Given the description of an element on the screen output the (x, y) to click on. 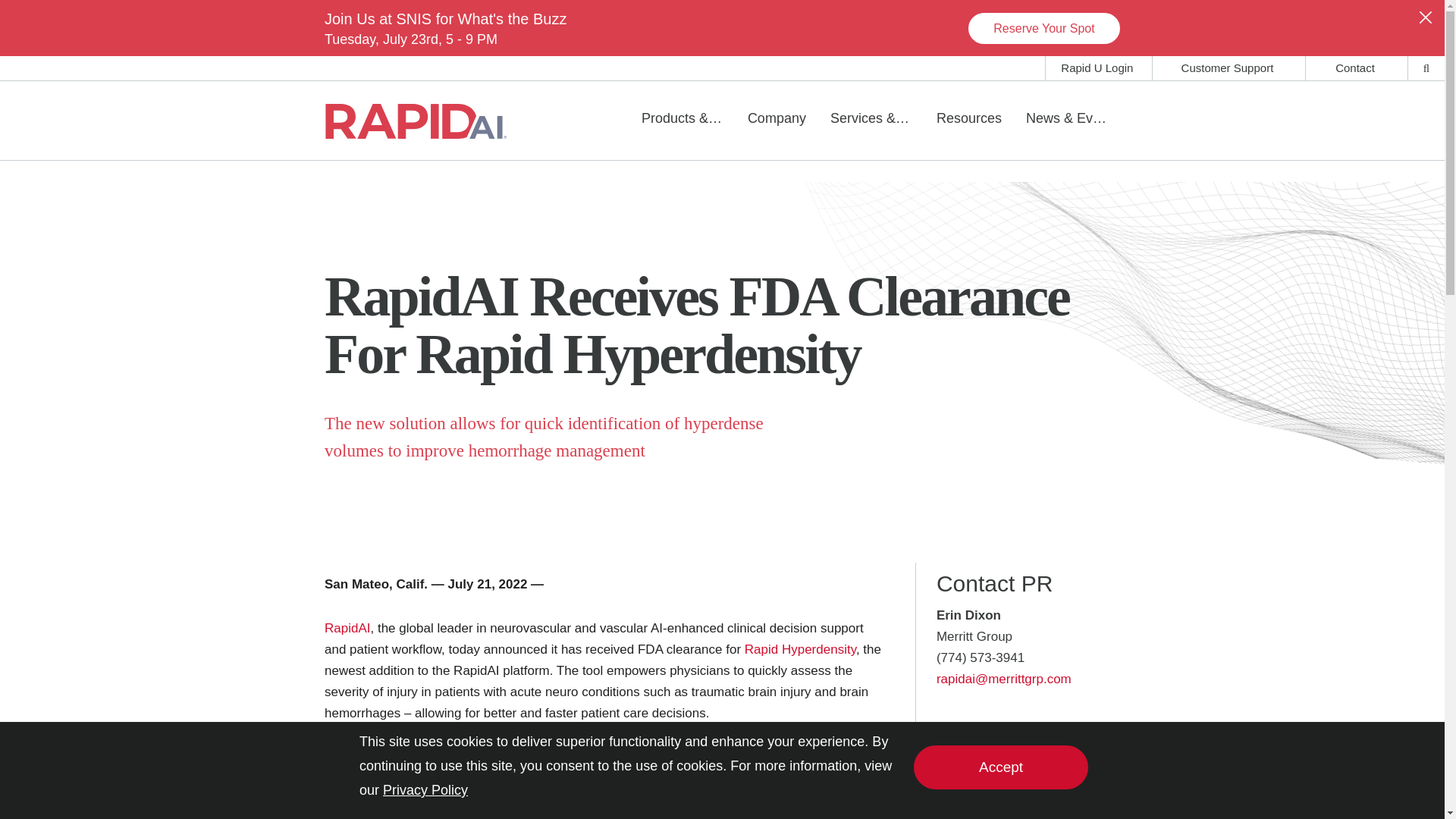
Rapid U Login (1096, 68)
Privacy Policy (424, 789)
Accept (1000, 767)
Customer Support (1227, 67)
Reserve Your Spot (1043, 27)
